Given the description of an element on the screen output the (x, y) to click on. 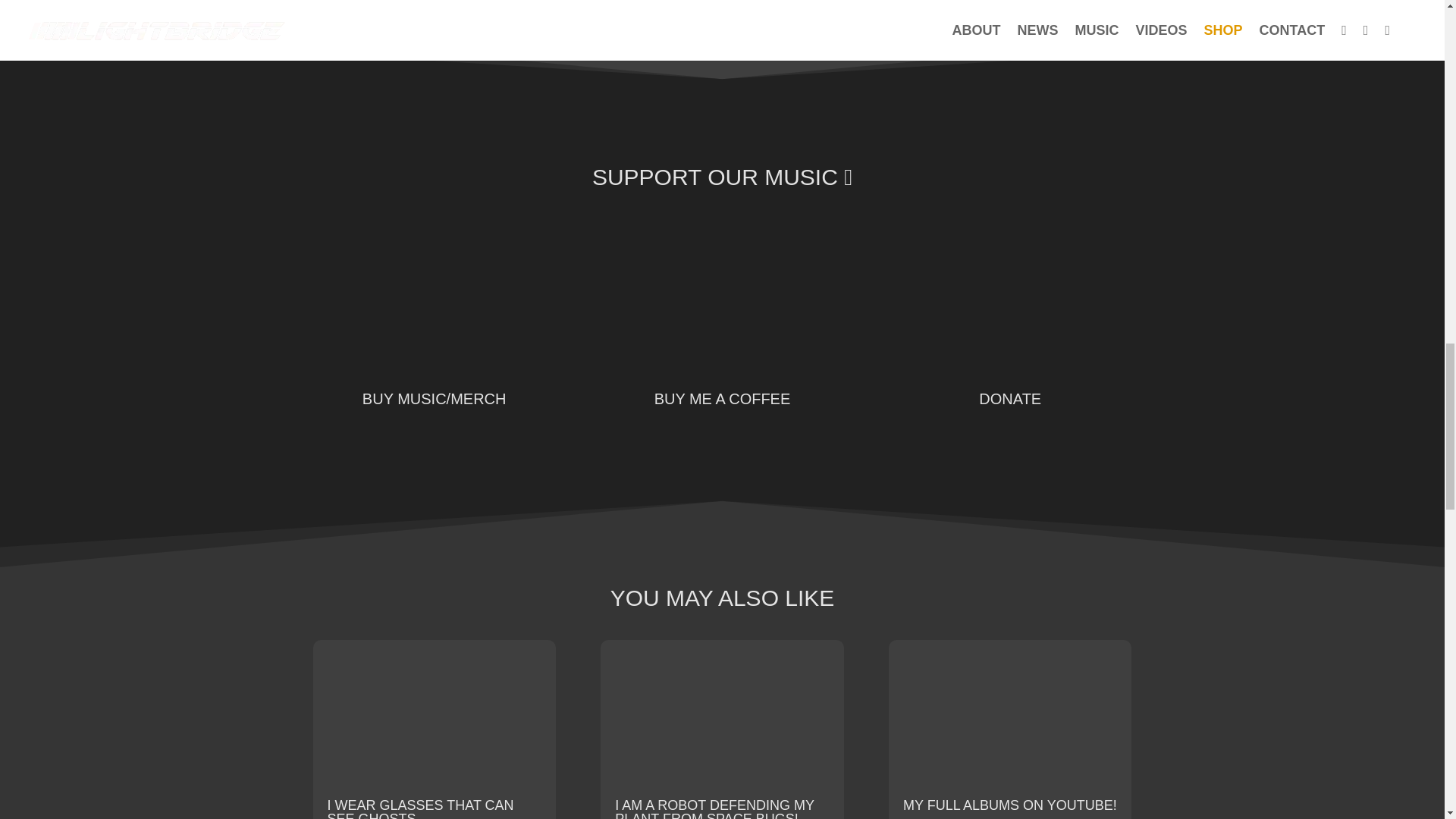
DONATE (1009, 398)
I WEAR GLASSES THAT CAN SEE GHOSTS (420, 808)
I AM A ROBOT DEFENDING MY PLANT FROM SPACE BUGS! (713, 808)
MY FULL ALBUMS ON YOUTUBE! (1009, 805)
BUY ME A COFFEE (721, 398)
